Given the description of an element on the screen output the (x, y) to click on. 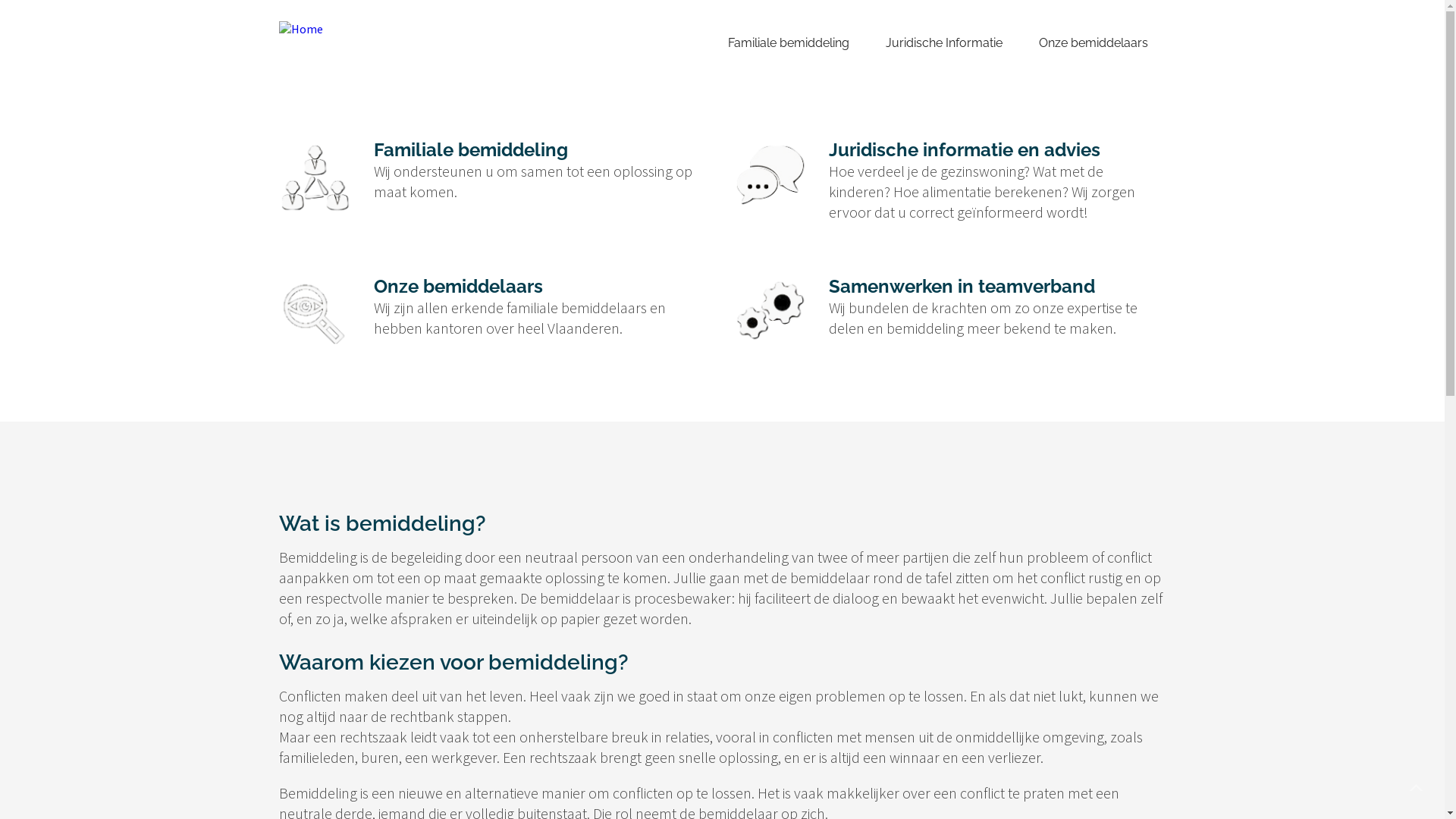
Familiale bemiddeling Element type: text (788, 42)
Home Element type: text (673, 42)
Home Element type: hover (301, 27)
Juridische Informatie Element type: text (943, 42)
Onze bemiddelaars Element type: text (1093, 42)
